Given the description of an element on the screen output the (x, y) to click on. 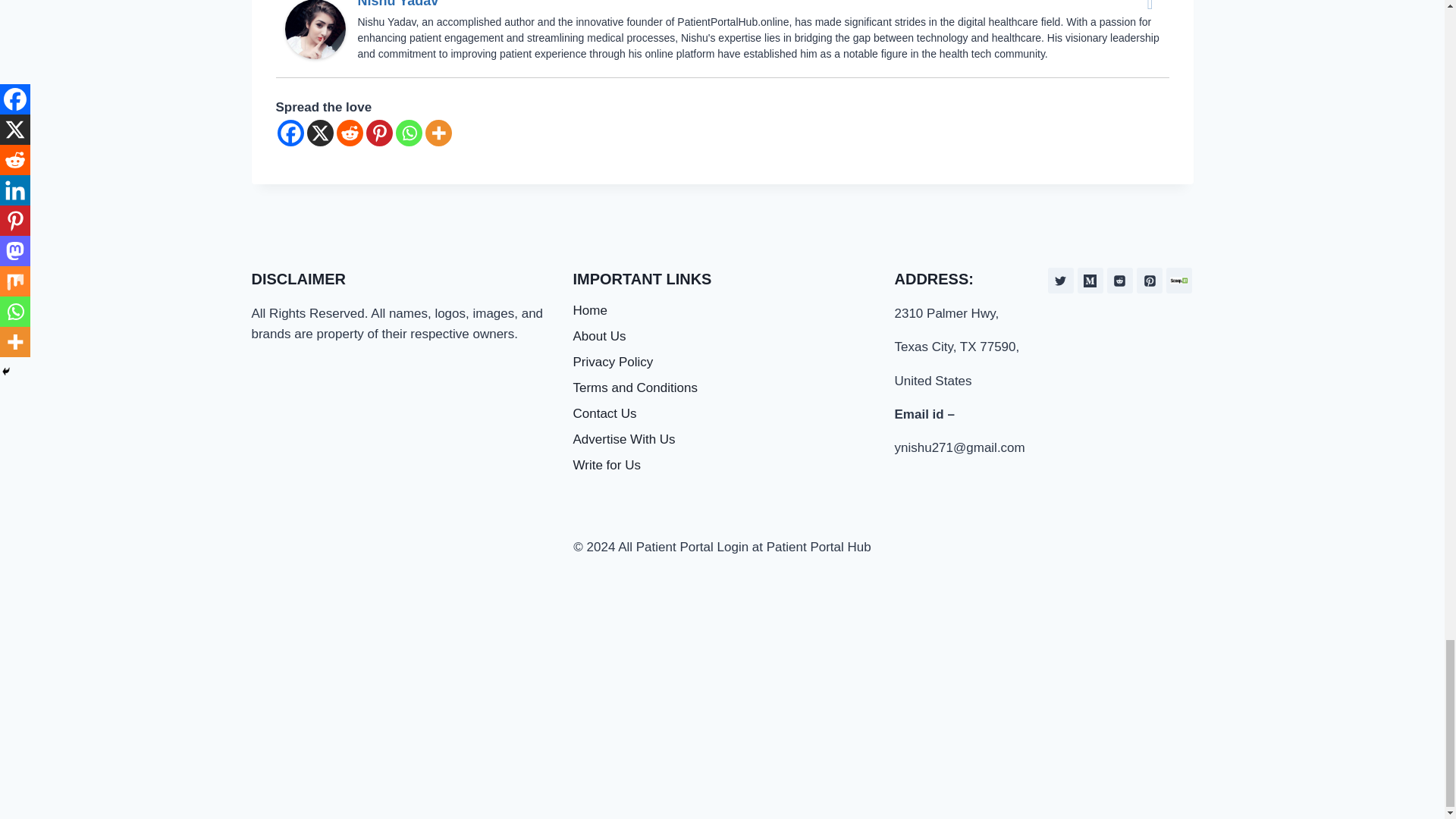
Nishu Yadav (315, 29)
